Given the description of an element on the screen output the (x, y) to click on. 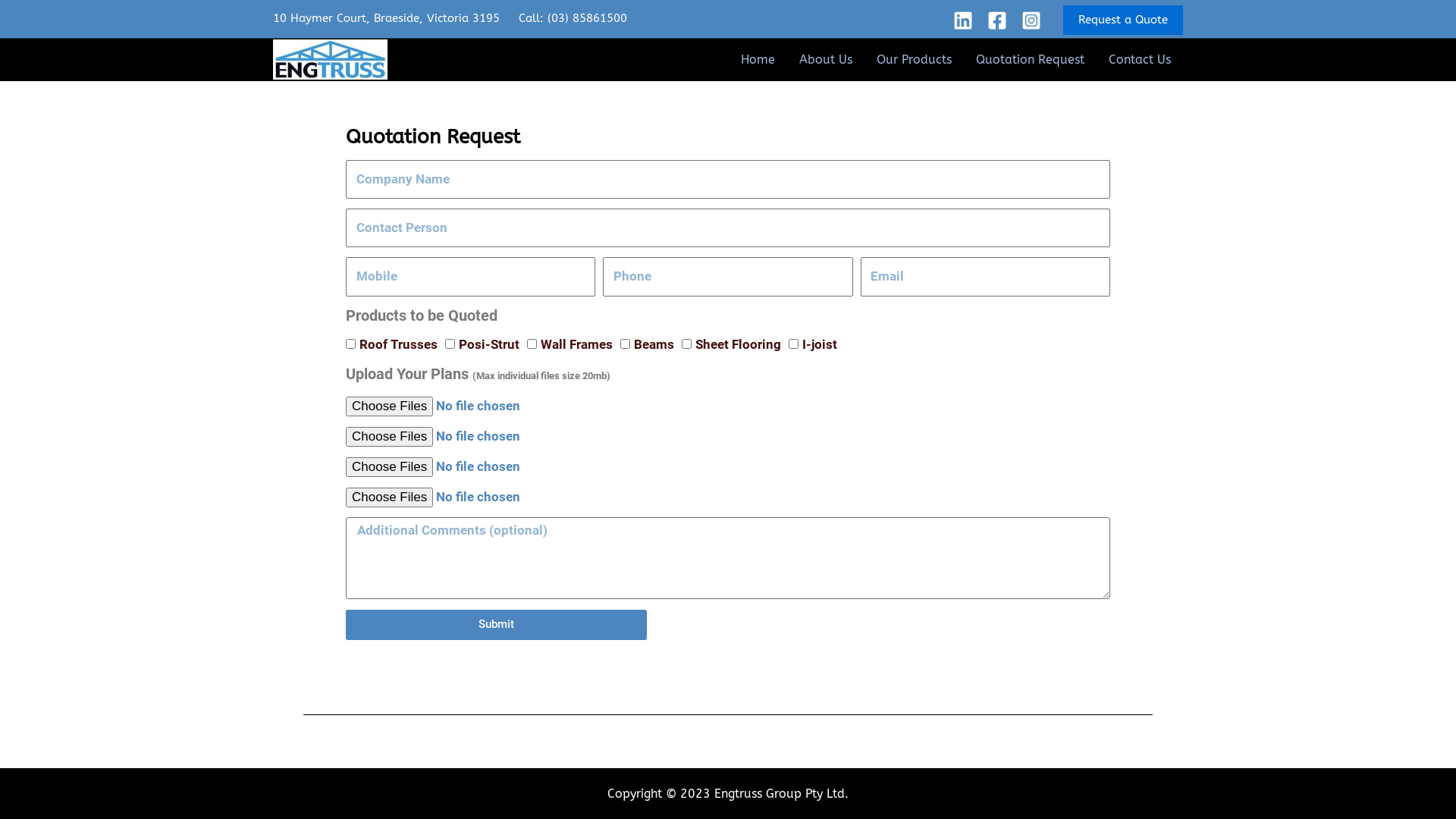
Our Products Element type: text (913, 59)
Contact Us Element type: text (1139, 59)
Home Element type: text (757, 59)
Quotation Request Element type: text (1029, 59)
Submit Element type: text (495, 624)
(03) 85861500 Element type: text (587, 18)
Request a Quote Element type: text (1123, 19)
About Us Element type: text (825, 59)
